Given the description of an element on the screen output the (x, y) to click on. 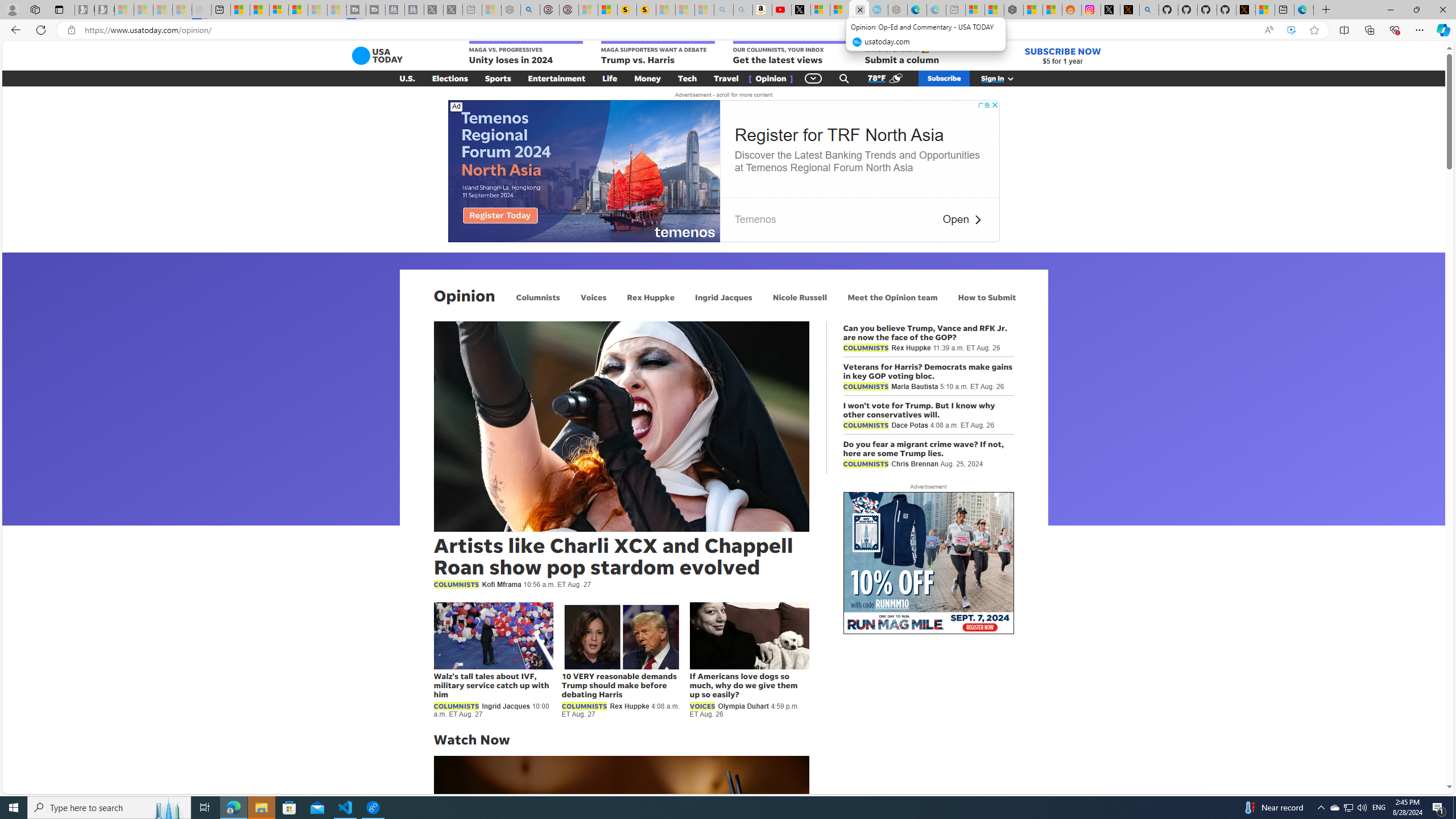
Class: ns-dqusr-e-4 (583, 170)
Temenos (754, 218)
New tab - Sleeping (954, 9)
Sports (497, 78)
MAGA SUPPORTERS WANT A DEBATE Trump vs. Harris (656, 53)
Nordace - Nordace has arrived Hong Kong - Sleeping (897, 9)
Columnists (537, 296)
X Privacy Policy (1245, 9)
The most popular Google 'how to' searches - Sleeping (877, 9)
Close (1442, 9)
